Given the description of an element on the screen output the (x, y) to click on. 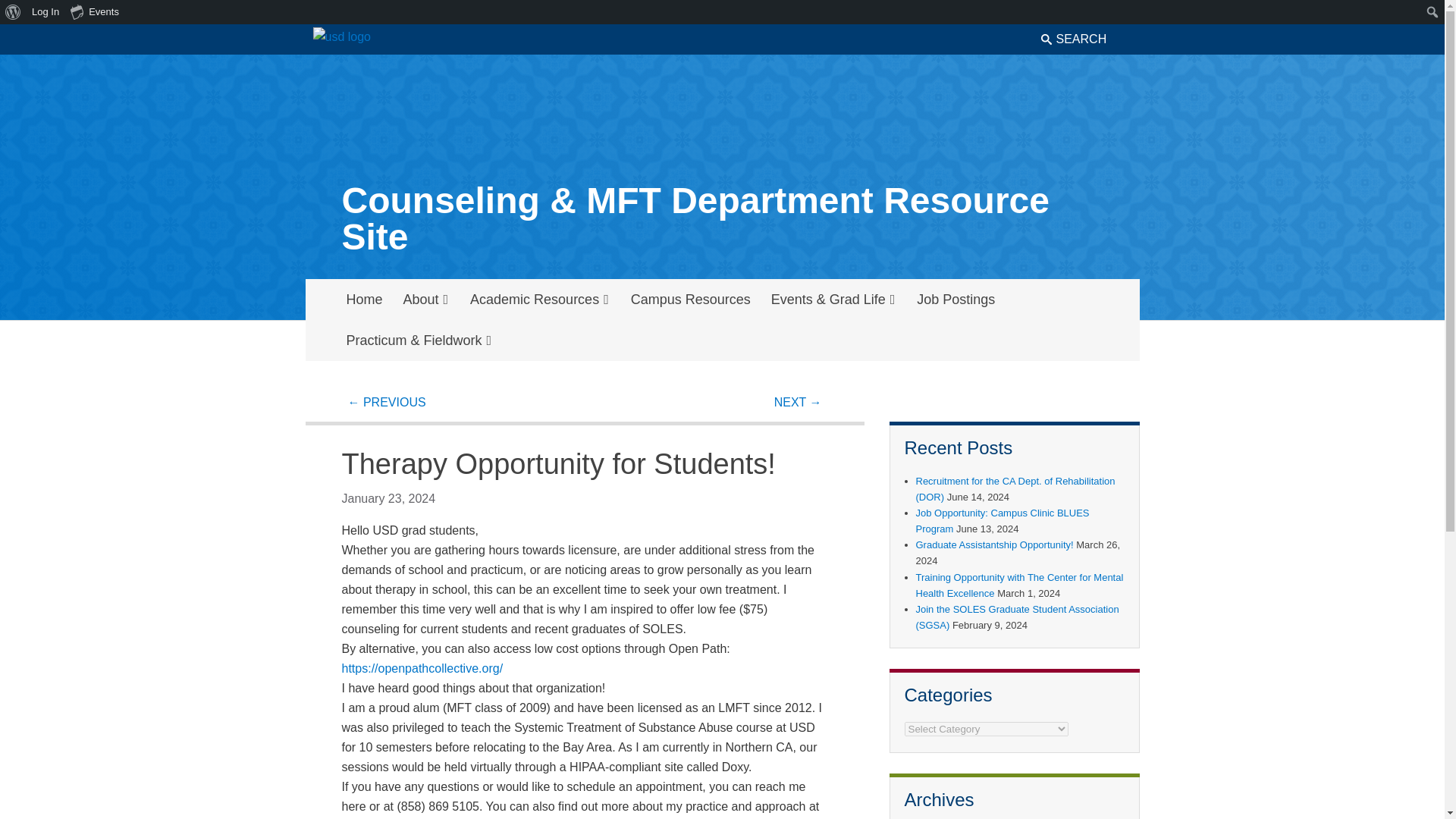
7:10 pm (387, 498)
Academic Resources (540, 299)
January 23, 2024 (387, 498)
Skip to secondary content (1068, 329)
About (426, 299)
Home (364, 299)
Skip to secondary content (1068, 329)
Campus Resources (690, 299)
Skip to primary content (1077, 329)
Skip to primary content (1077, 329)
Job Postings (956, 299)
Search (43, 15)
